Given the description of an element on the screen output the (x, y) to click on. 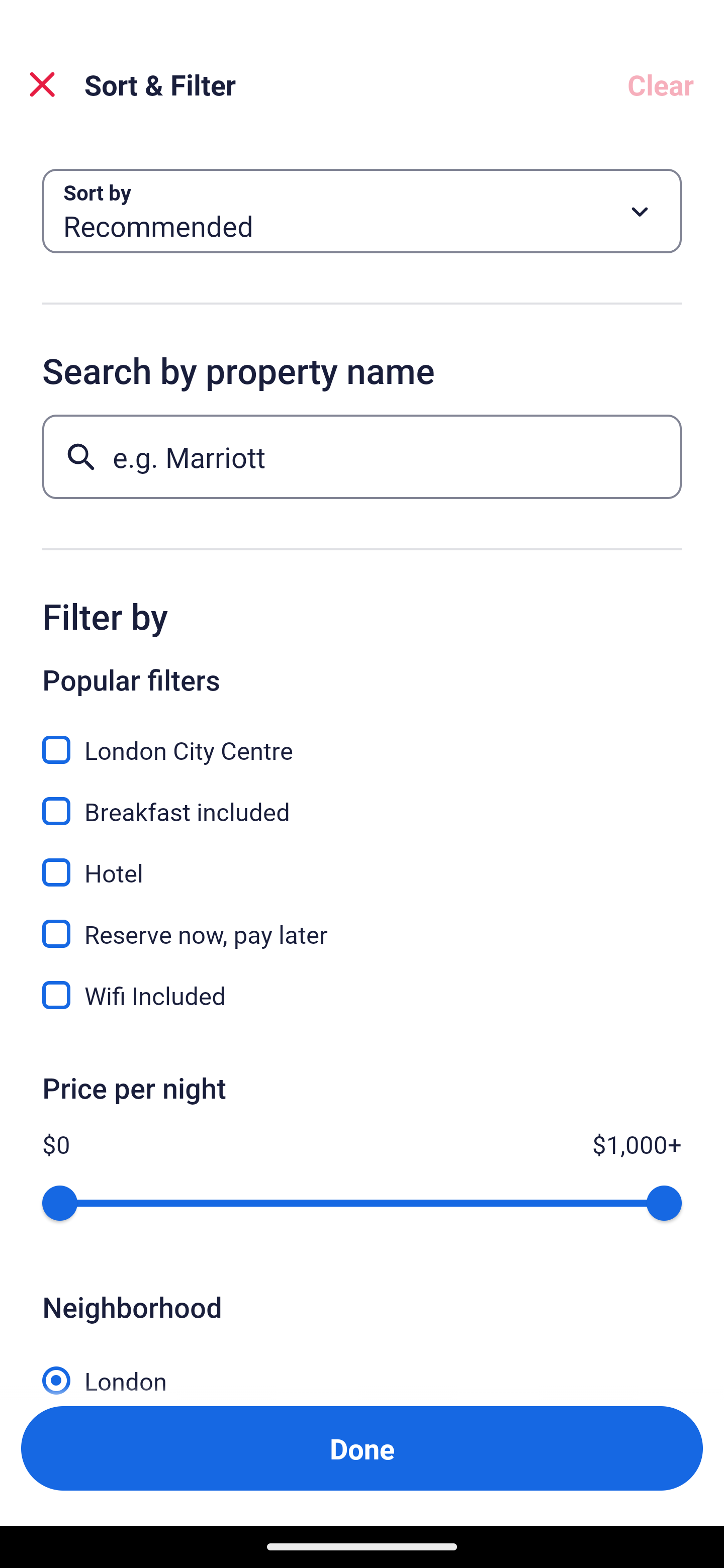
Close Sort and Filter (42, 84)
Clear (660, 84)
Sort by Button Recommended (361, 211)
e.g. Marriott Button (361, 455)
London City Centre, London City Centre (361, 738)
Breakfast included, Breakfast included (361, 800)
Hotel, Hotel (361, 861)
Reserve now, pay later, Reserve now, pay later (361, 922)
Wifi Included, Wifi Included (361, 995)
Apply and close Sort and Filter Done (361, 1448)
